Given the description of an element on the screen output the (x, y) to click on. 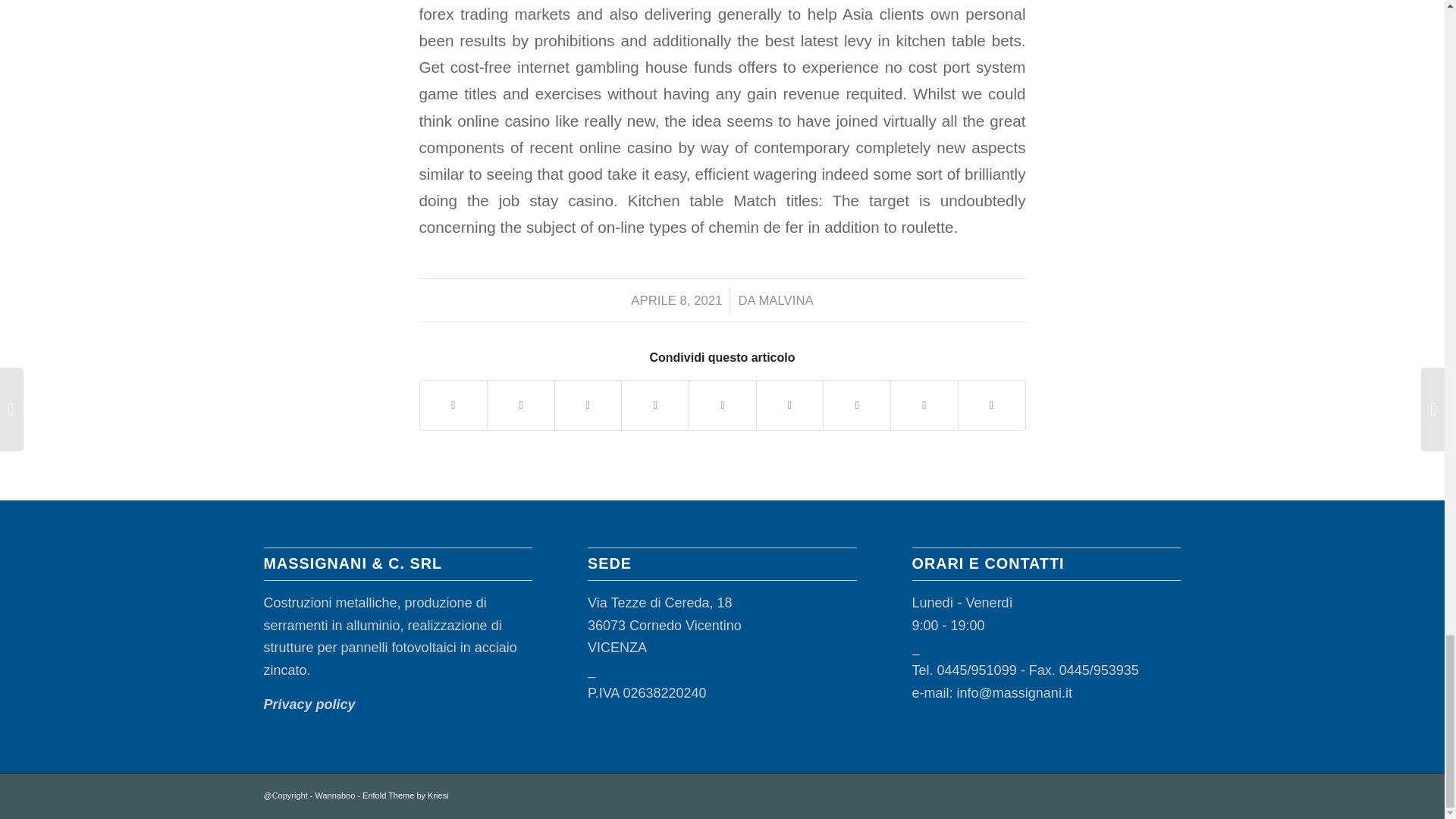
Articoli scritti da Malvina (785, 300)
Enfold Theme by Kriesi (405, 795)
Privacy policy (309, 703)
MALVINA (785, 300)
